Given the description of an element on the screen output the (x, y) to click on. 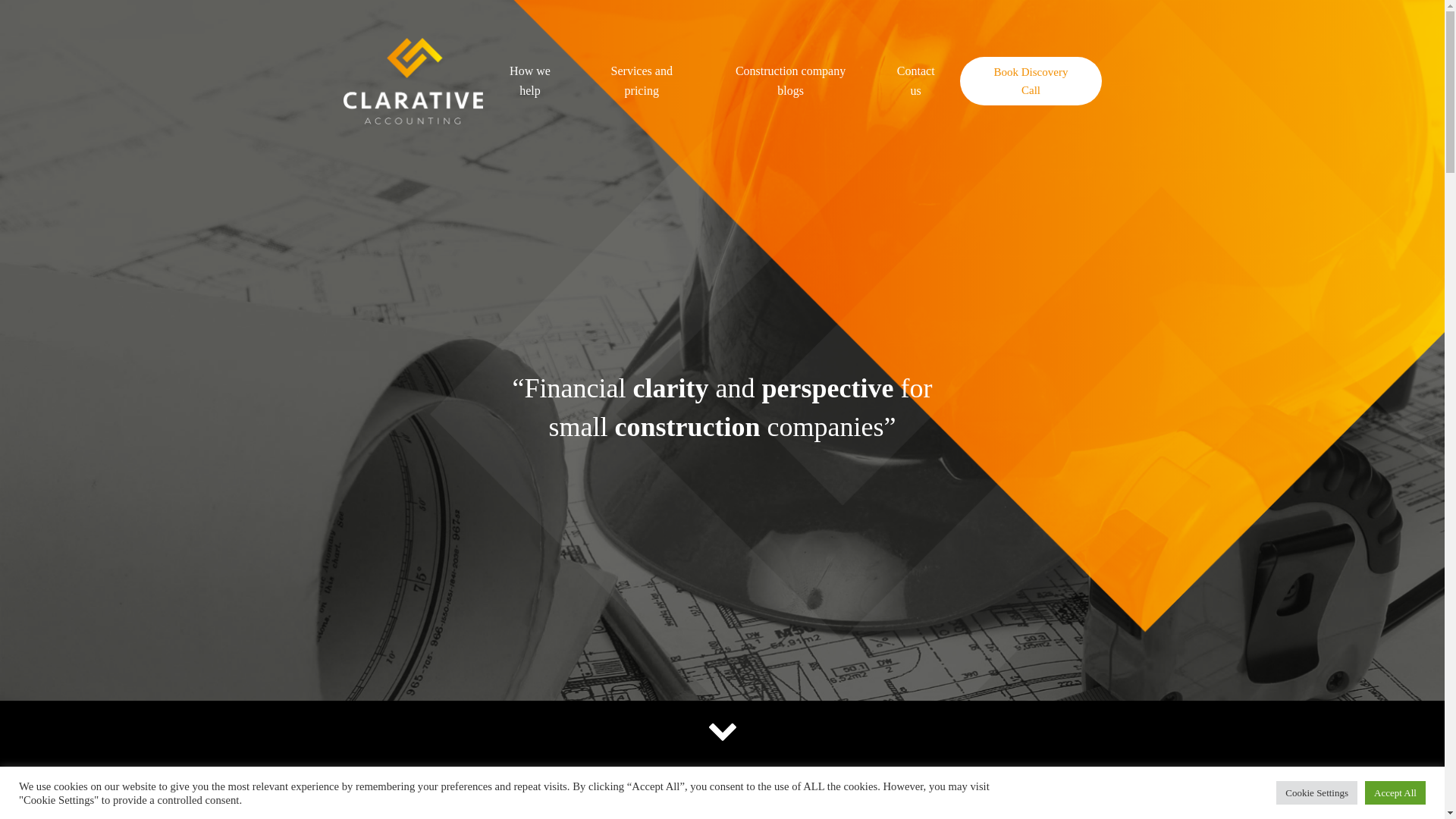
Construction company blogs (790, 80)
Accept All (1395, 792)
How we help (530, 80)
Services and pricing (641, 80)
Contact us (915, 80)
Cookie Settings (1316, 792)
Book Discovery Call (1029, 80)
